Given the description of an element on the screen output the (x, y) to click on. 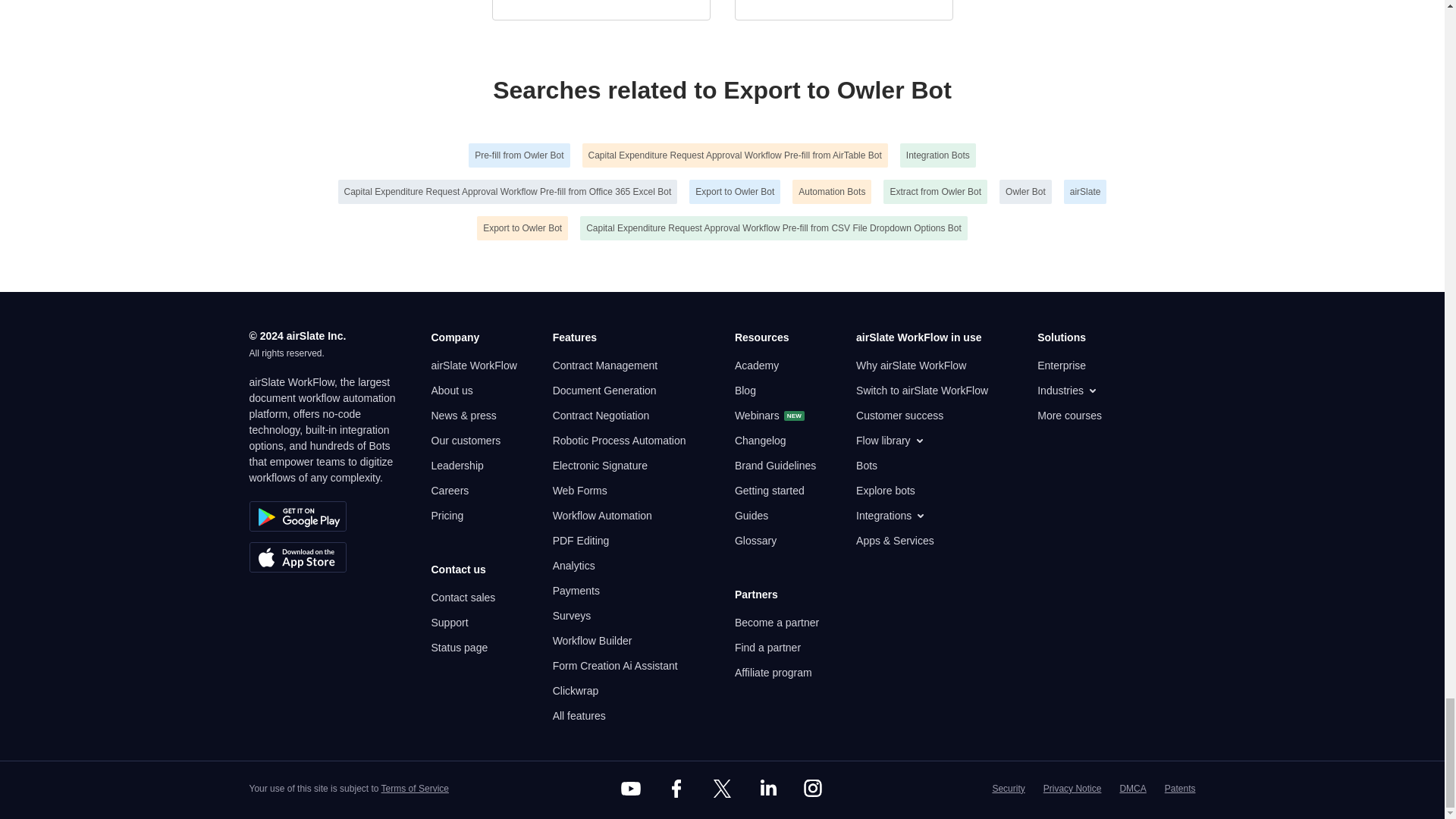
LinkedIn (767, 788)
Facebook (676, 788)
YouTube (630, 788)
Instagram (812, 788)
Twitter (721, 788)
